Given the description of an element on the screen output the (x, y) to click on. 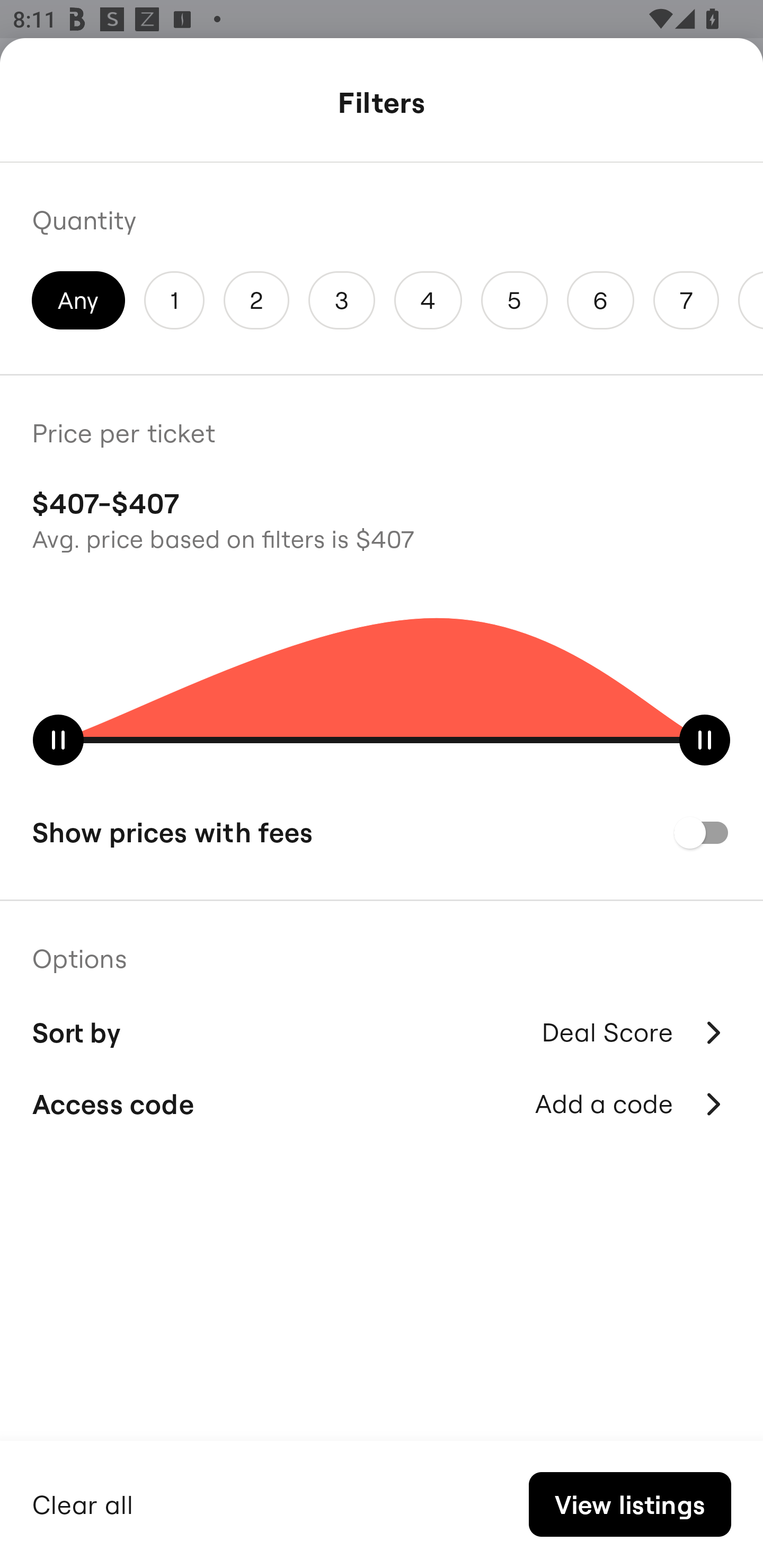
Back Hadestown Thu, Mar 7, 7 PM Info (381, 104)
Any (78, 300)
1 (173, 300)
2 (256, 300)
3 (341, 300)
4 (427, 300)
5 (514, 300)
6 (601, 300)
7 (685, 300)
$407-$407 Avg. price based on filters is $407 (381, 518)
Show prices with fees (381, 832)
Sort by Deal Score (381, 1030)
Sort by deal (633, 1091)
Access code Add a code (381, 1104)
Clear all (83, 1502)
View listings (629, 1504)
